Given the description of an element on the screen output the (x, y) to click on. 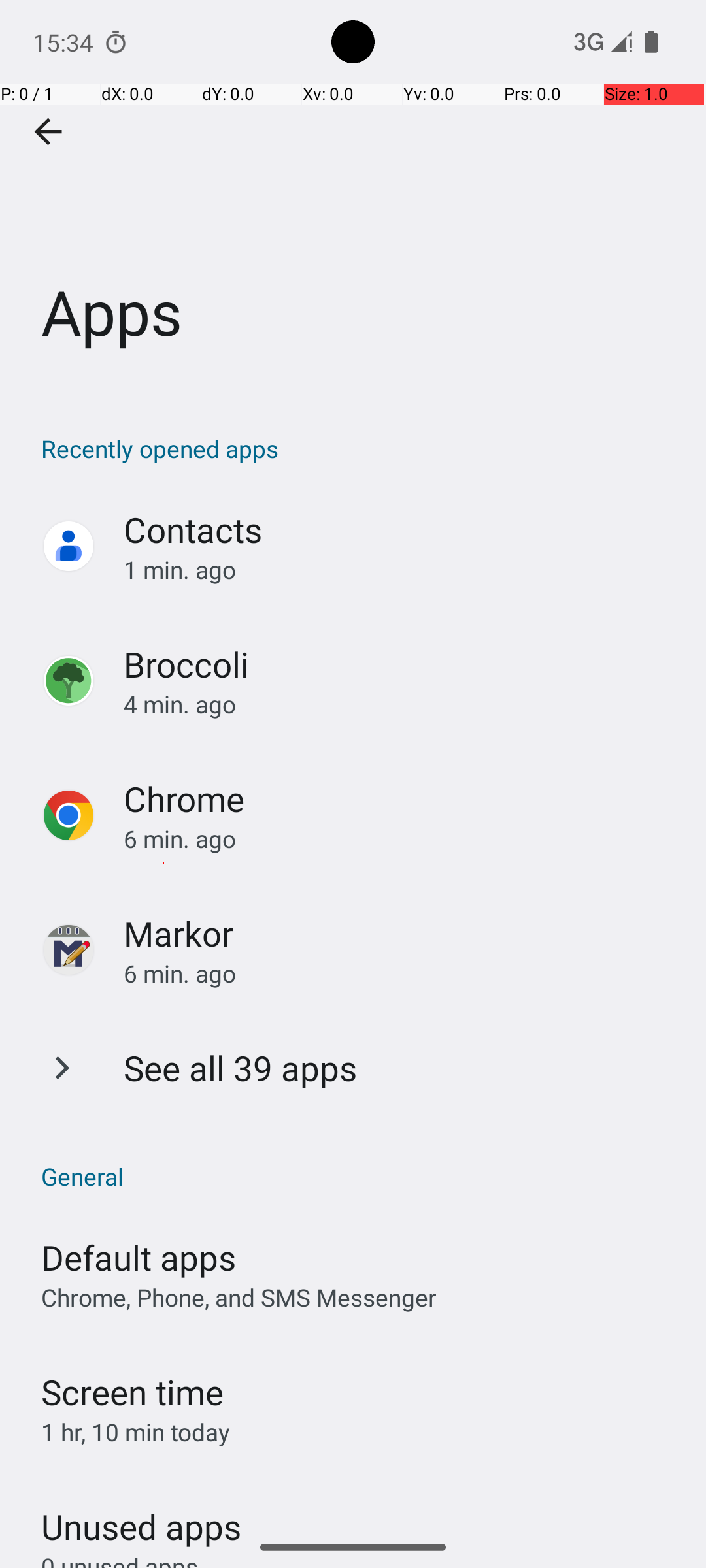
6 min. ago Element type: android.widget.TextView (400, 838)
See all 39 apps Element type: android.widget.TextView (239, 1067)
1 hr, 10 min today Element type: android.widget.TextView (135, 1431)
